Given the description of an element on the screen output the (x, y) to click on. 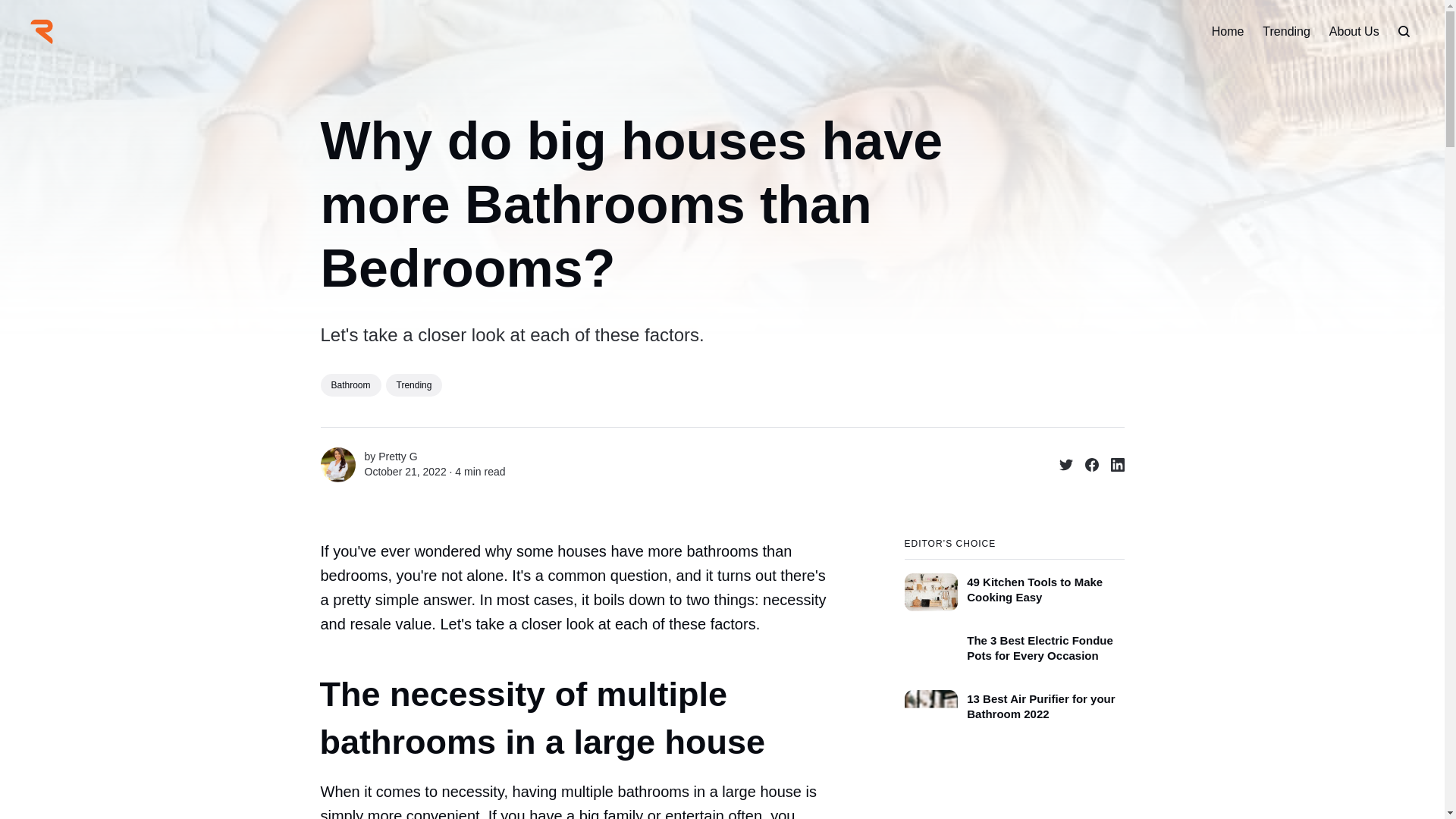
Pretty G (397, 456)
About Us (1353, 31)
Bathroom (350, 384)
Trending (1286, 31)
Trending (413, 384)
The 3 Best Electric Fondue Pots for Every Occasion (1014, 646)
49 Kitchen Tools to Make Cooking Easy (1014, 584)
Home (1227, 31)
13 Best Air Purifier for your Bathroom 2022 (1014, 704)
